Given the description of an element on the screen output the (x, y) to click on. 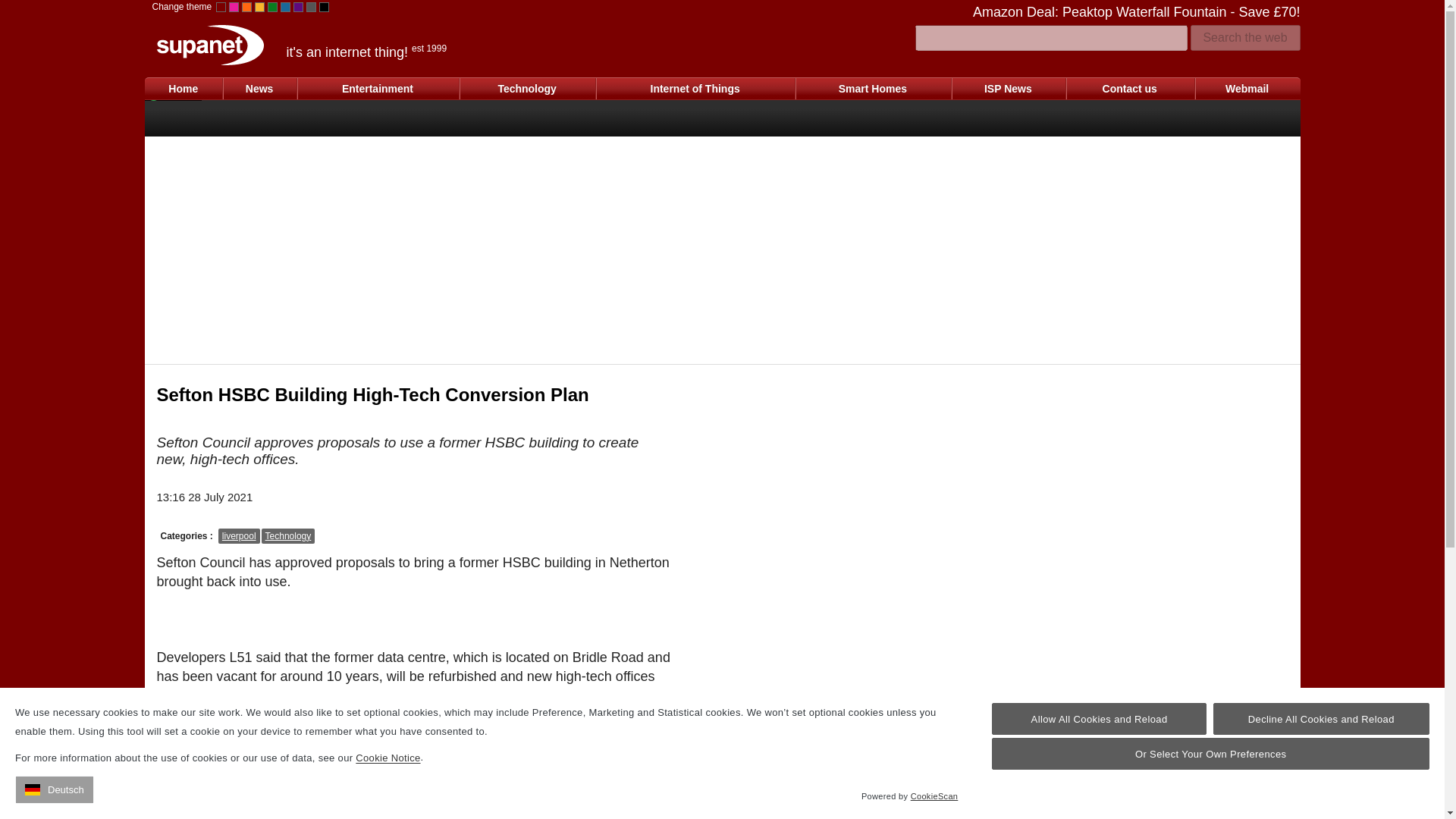
Entertainment (377, 88)
Search the web (1245, 37)
Smart Homes (872, 88)
Search the web (1245, 37)
Contact us (1129, 88)
Internet of Things (694, 88)
ISP News (1007, 88)
Home (183, 88)
Technology (526, 88)
Search the web (1245, 37)
